Given the description of an element on the screen output the (x, y) to click on. 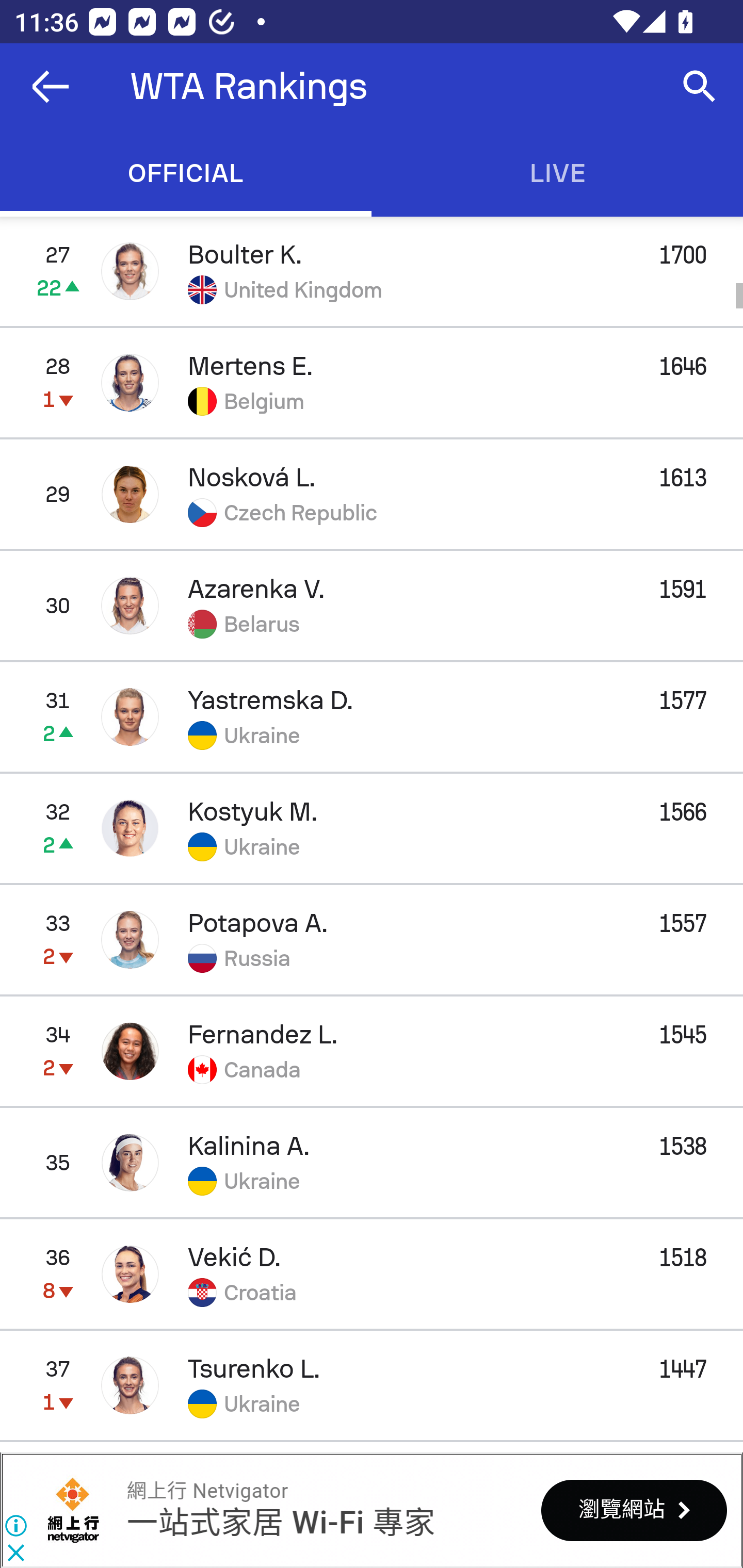
Navigate up (50, 86)
Search (699, 86)
Live LIVE (557, 173)
27 22 Boulter K. 1700 United Kingdom (371, 271)
28 1 Mertens E. 1646 Belgium (371, 382)
29 Nosková L. 1613 Czech Republic (371, 493)
30 Azarenka V. 1591 Belarus (371, 605)
31 2 Yastremska D. 1577 Ukraine (371, 716)
32 2 Kostyuk M. 1566 Ukraine (371, 827)
33 2 Potapova A. 1557 Russia (371, 939)
34 2 Fernandez L. 1545 Canada (371, 1051)
35 Kalinina A. 1538 Ukraine (371, 1162)
36 8 Vekić D. 1518 Croatia (371, 1273)
37 1 Tsurenko L. 1447 Ukraine (371, 1385)
網上行 Netvigator (73, 1510)
網上行 Netvigator (206, 1491)
瀏覽網站 (634, 1509)
一站式家居 Wi-Fi 專家 (279, 1522)
